Given the description of an element on the screen output the (x, y) to click on. 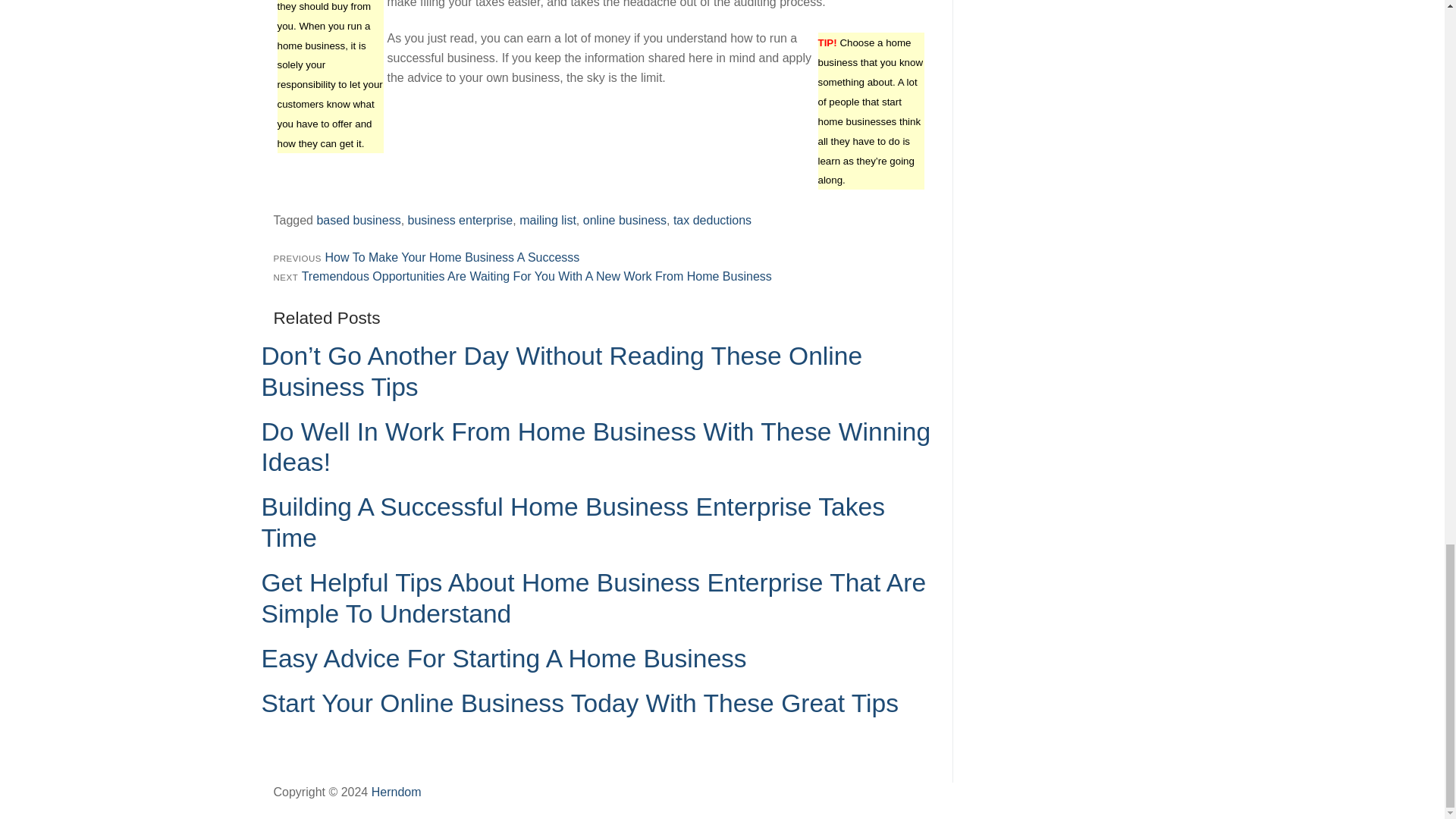
Do Well In Work From Home Business With These Winning Ideas! (595, 446)
Building A Successful Home Business Enterprise Takes Time (571, 522)
Do Well In Work From Home Business With These Winning Ideas! (595, 446)
Easy Advice For Starting A Home Business (502, 658)
tax deductions (711, 219)
Building A Successful Home Business Enterprise Takes Time (571, 522)
Start Your Online Business Today With These Great Tips (579, 703)
business enterprise (460, 219)
mailing list (547, 219)
online business (624, 219)
based business (357, 219)
Easy Advice For Starting A Home Business (502, 658)
